Given the description of an element on the screen output the (x, y) to click on. 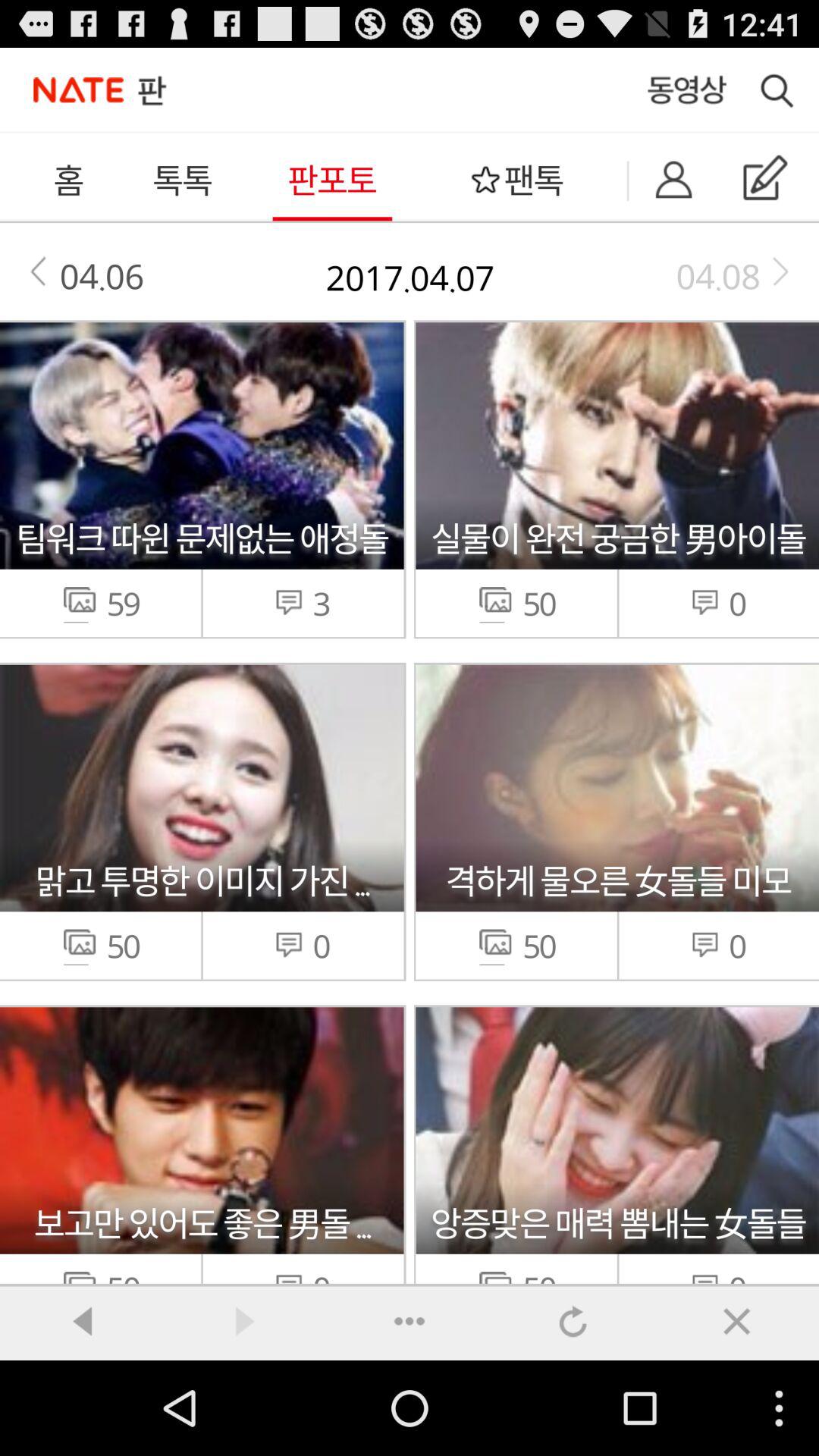
click to undo option (573, 1320)
